Given the description of an element on the screen output the (x, y) to click on. 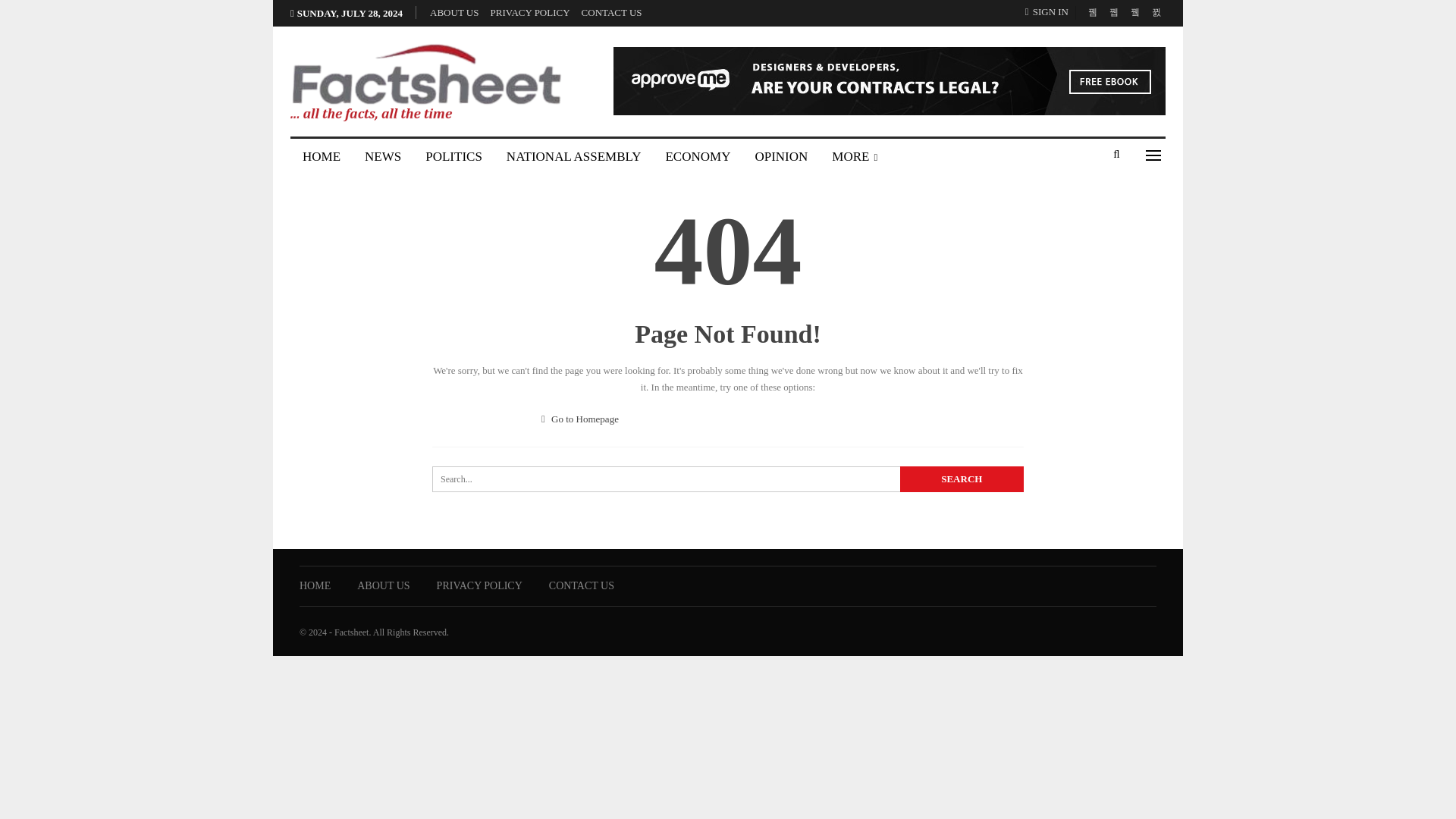
Search (961, 479)
Search for: (727, 479)
NEWS (382, 156)
PRIVACY POLICY (529, 12)
SIGN IN (1049, 12)
MORE (854, 156)
ABOUT US (454, 12)
Go to Homepage (579, 419)
Search (961, 479)
NATIONAL ASSEMBLY (574, 156)
HOME (320, 156)
POLITICS (454, 156)
ECONOMY (697, 156)
HOME (314, 585)
Search (961, 479)
